Given the description of an element on the screen output the (x, y) to click on. 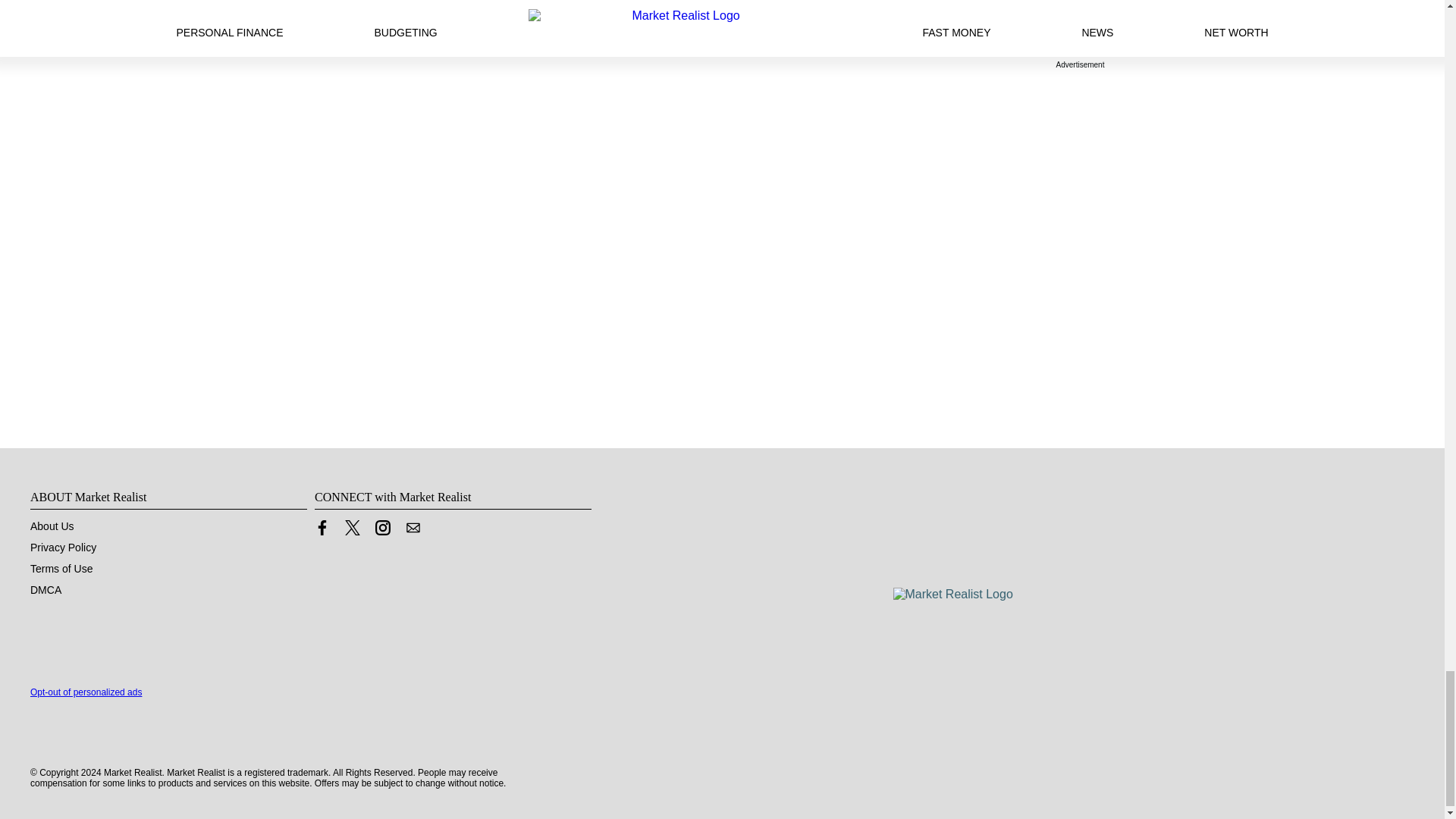
Link to Facebook (322, 527)
Contact us by Email (413, 527)
About Us (52, 526)
Link to Instagram (382, 527)
Privacy Policy (63, 547)
Terms of Use (61, 568)
Link to X (352, 527)
About Us (52, 526)
DMCA (45, 589)
Privacy Policy (63, 547)
